Given the description of an element on the screen output the (x, y) to click on. 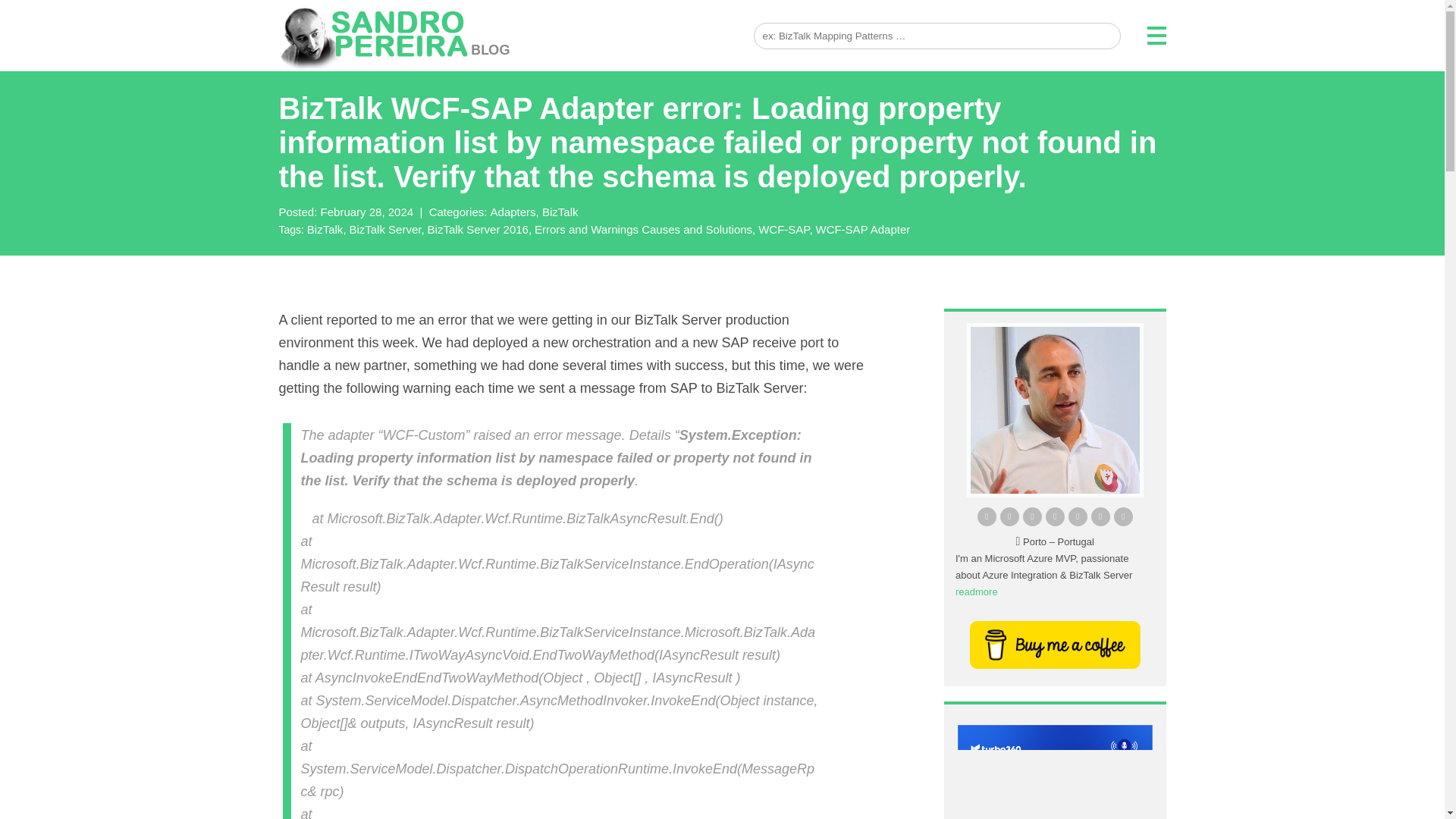
Errors and Warnings Causes and Solutions (644, 228)
WCF-SAP (785, 228)
WCF-SAP Adapter (862, 228)
Adapters (514, 211)
BizTalk Server 2016 (480, 228)
Search for: (937, 35)
BizTalk (326, 228)
readmore (976, 591)
BizTalk Server (386, 228)
BizTalk (559, 211)
